Given the description of an element on the screen output the (x, y) to click on. 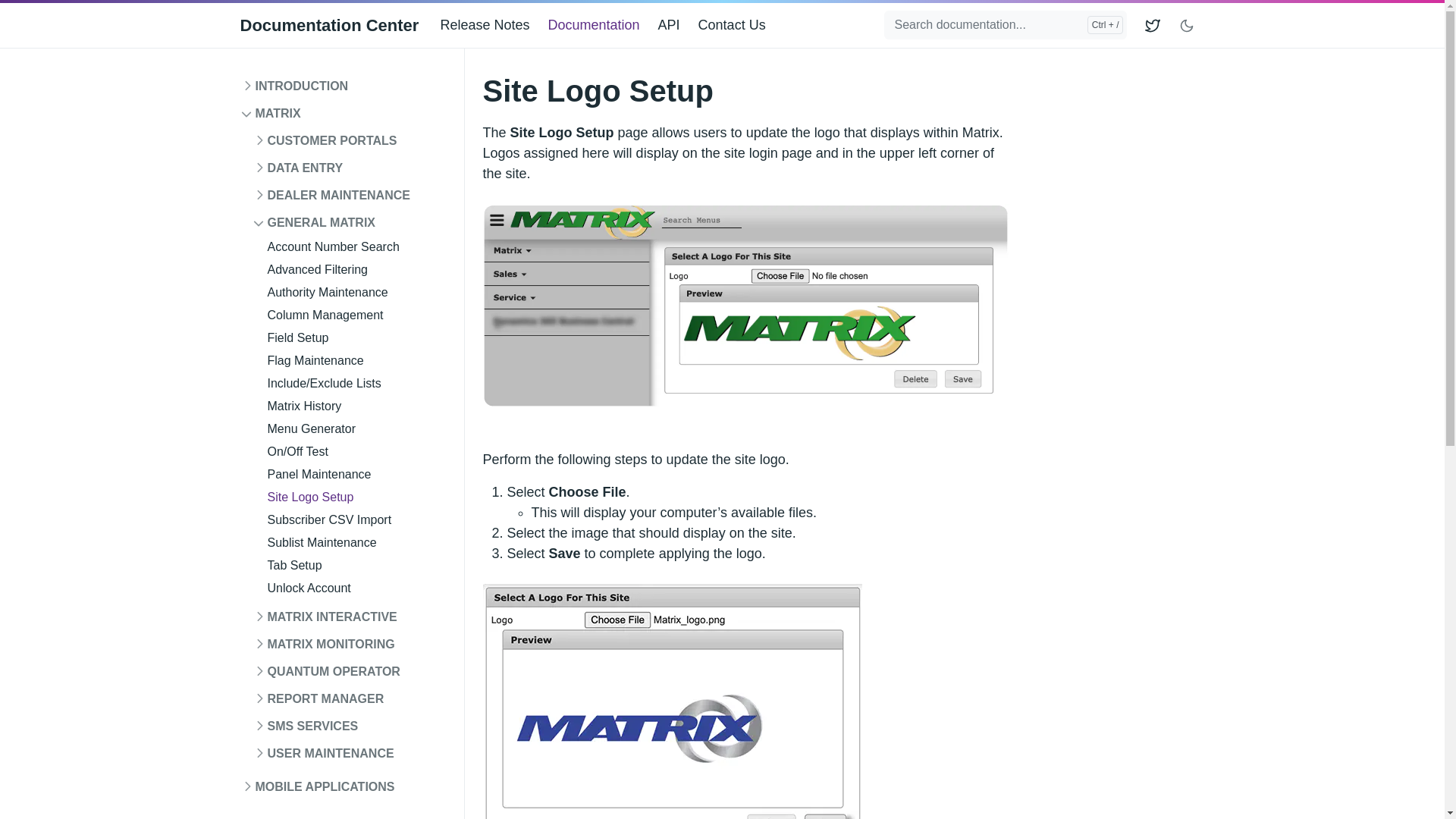
Release Notes (490, 25)
Contact Us (737, 25)
Documentation Center (329, 25)
API (675, 25)
Documentation (598, 25)
